Given the description of an element on the screen output the (x, y) to click on. 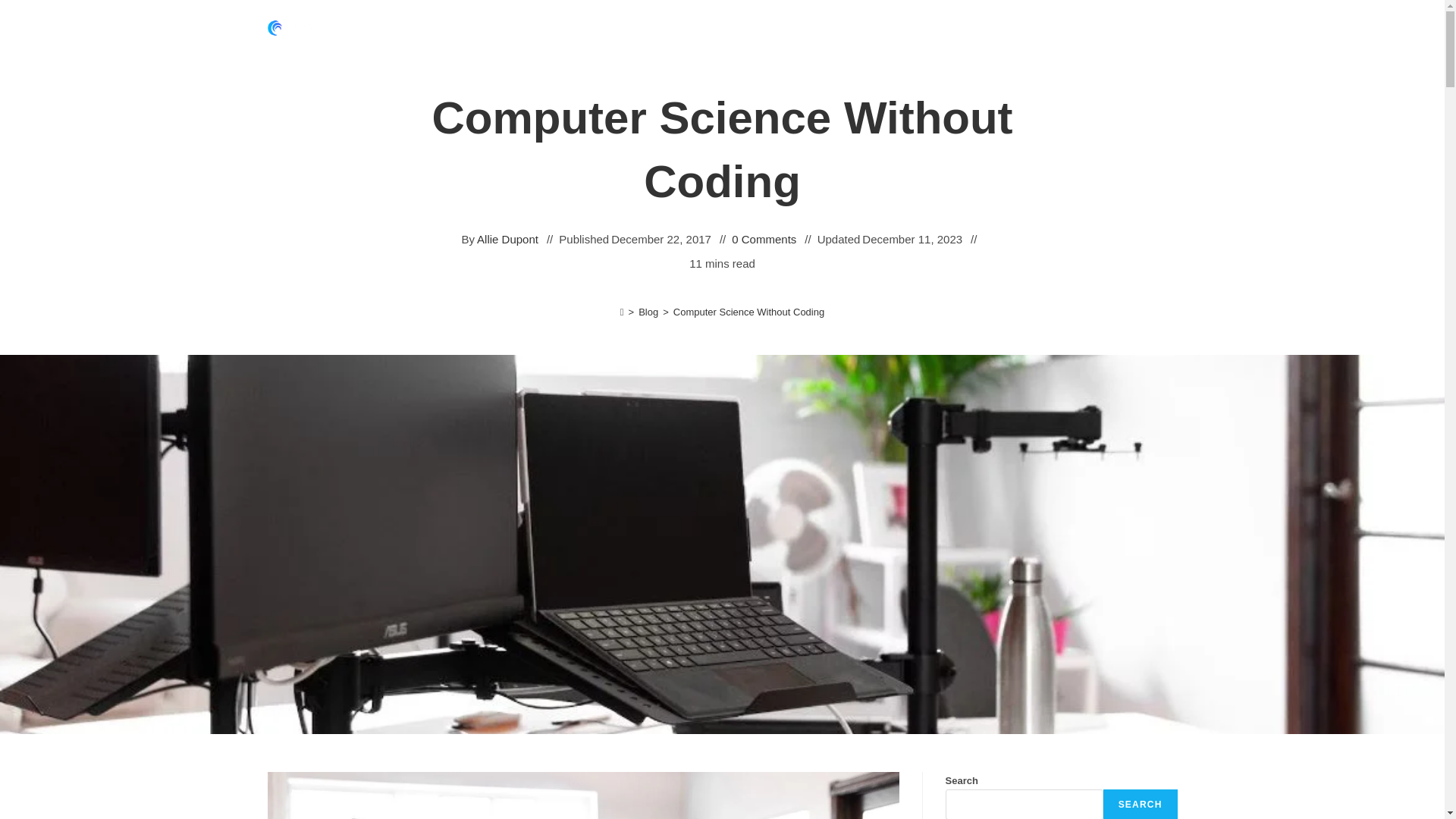
Computer Science Without Coding (748, 311)
Allie Dupont (507, 239)
0 Comments (764, 239)
SEARCH (1140, 804)
Blog (648, 311)
